Given the description of an element on the screen output the (x, y) to click on. 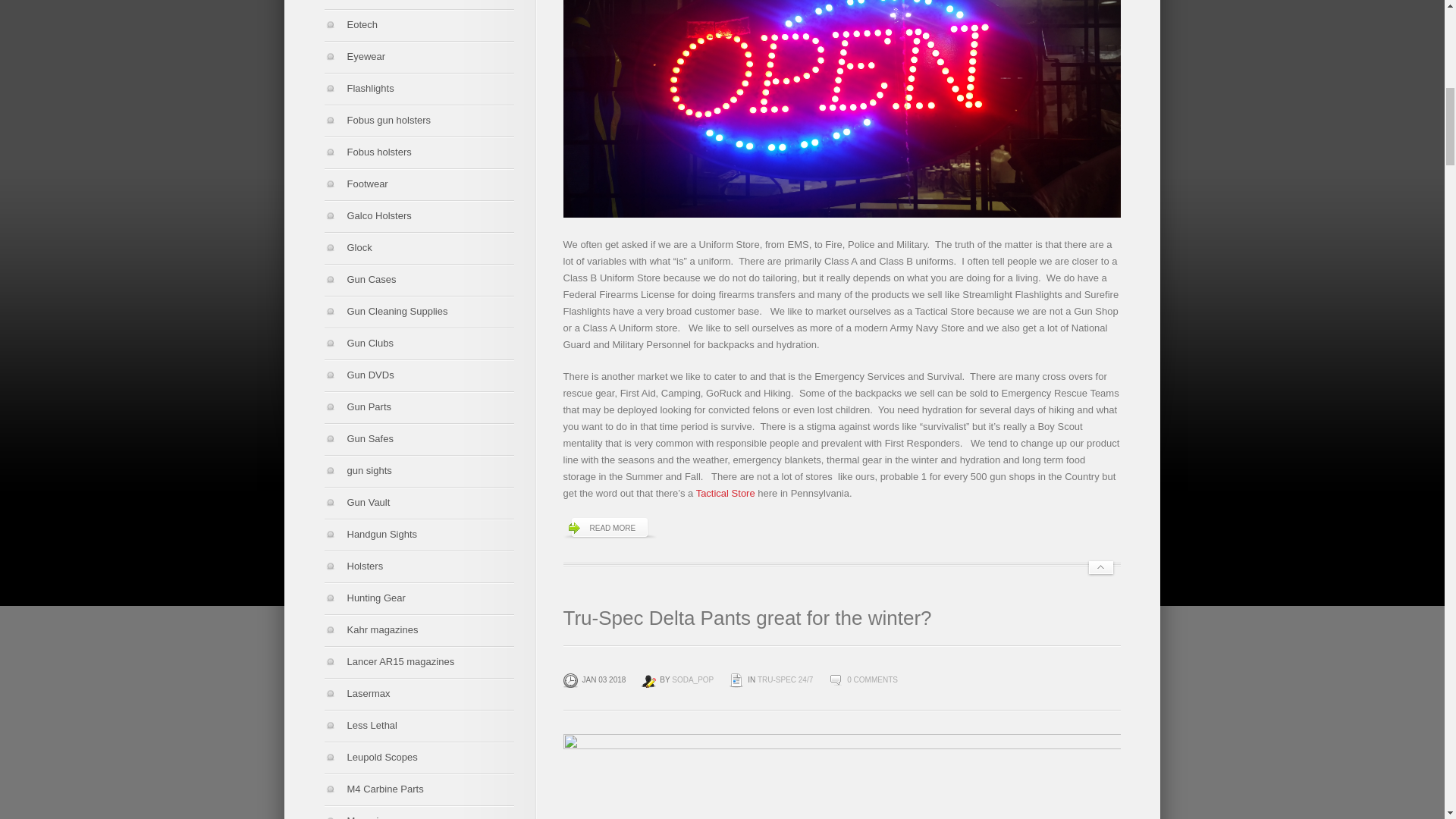
Tactical Store (725, 492)
Permanent link to Tru-Spec Delta Pants great for the winter? (746, 617)
0 COMMENTS (872, 679)
Tru-Spec Delta Pants great for the winter? (746, 617)
READ MORE (609, 527)
